Given the description of an element on the screen output the (x, y) to click on. 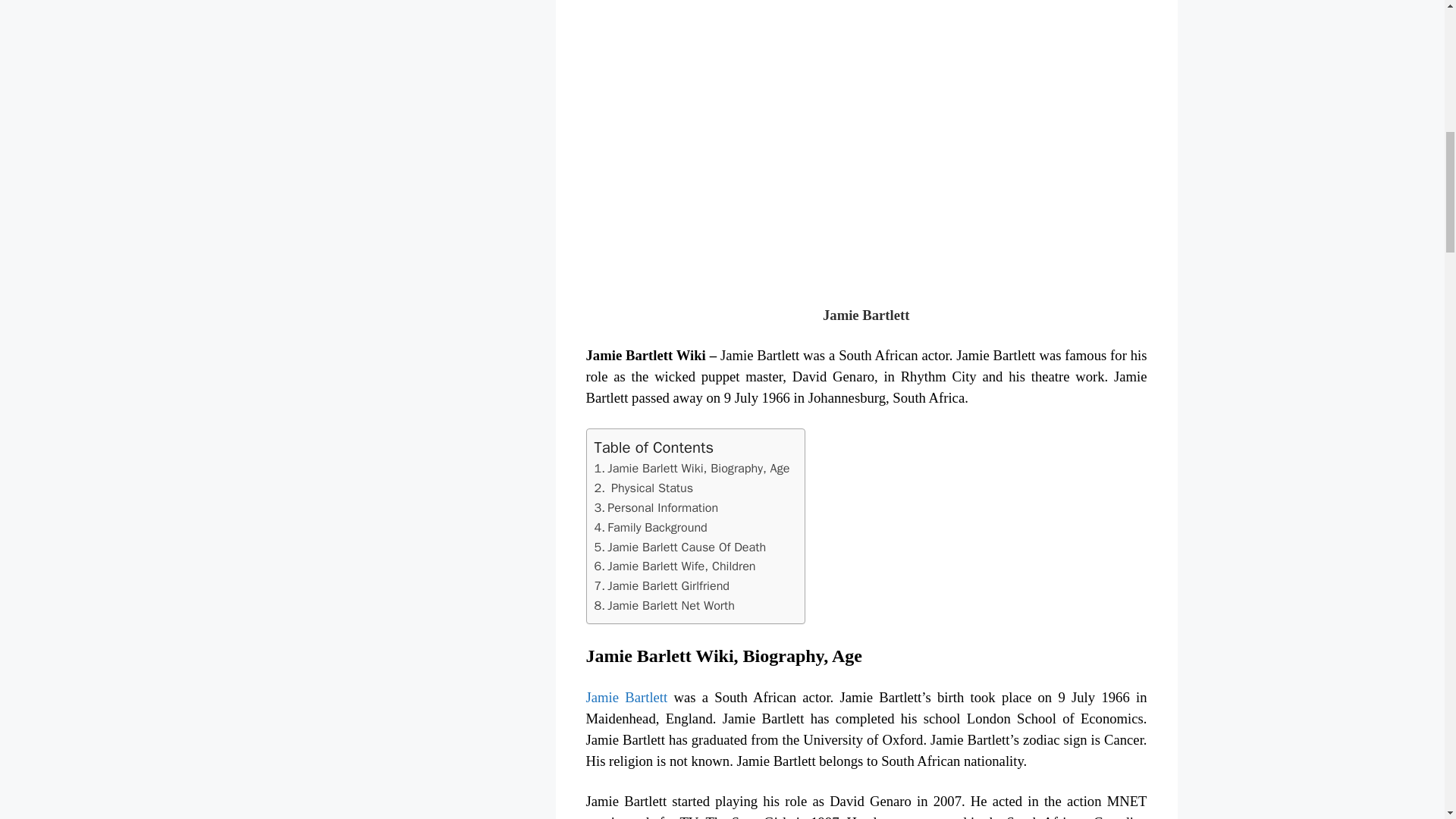
Family Background (657, 527)
Jamie Barlett Net Worth (671, 605)
Personal Information (662, 507)
Jamie Barlett Wife, Children (681, 565)
 Physical Status  (652, 487)
Jamie Barlett Girlfriend (668, 585)
Personal Information (662, 507)
Jamie Barlett Girlfriend (668, 585)
Jamie Barlett Cause Of Death (686, 546)
Jamie Bartlett (625, 697)
Scroll back to top (1406, 720)
Jamie Barlett Wife, Children (681, 565)
Jamie Barlett Wiki, Biography, Age (698, 467)
Family Background (657, 527)
